Given the description of an element on the screen output the (x, y) to click on. 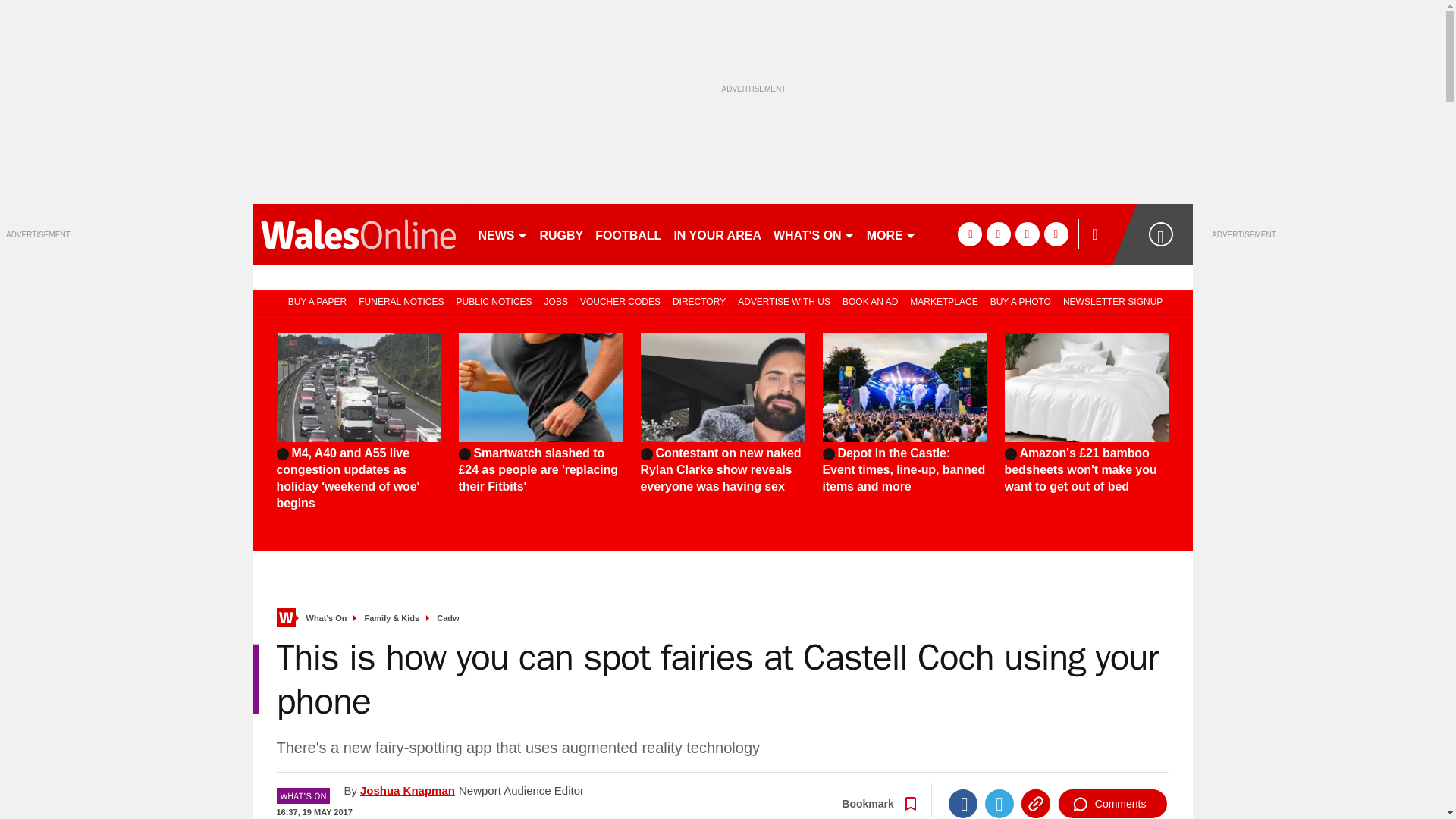
RUGBY (561, 233)
WHAT'S ON (813, 233)
MORE (890, 233)
Comments (1112, 803)
Twitter (999, 803)
Facebook (962, 803)
3rd party ad content (1325, 333)
twitter (997, 233)
pinterest (1026, 233)
walesonline (357, 233)
3rd party ad content (118, 333)
IN YOUR AREA (716, 233)
NEWS (501, 233)
